Given the description of an element on the screen output the (x, y) to click on. 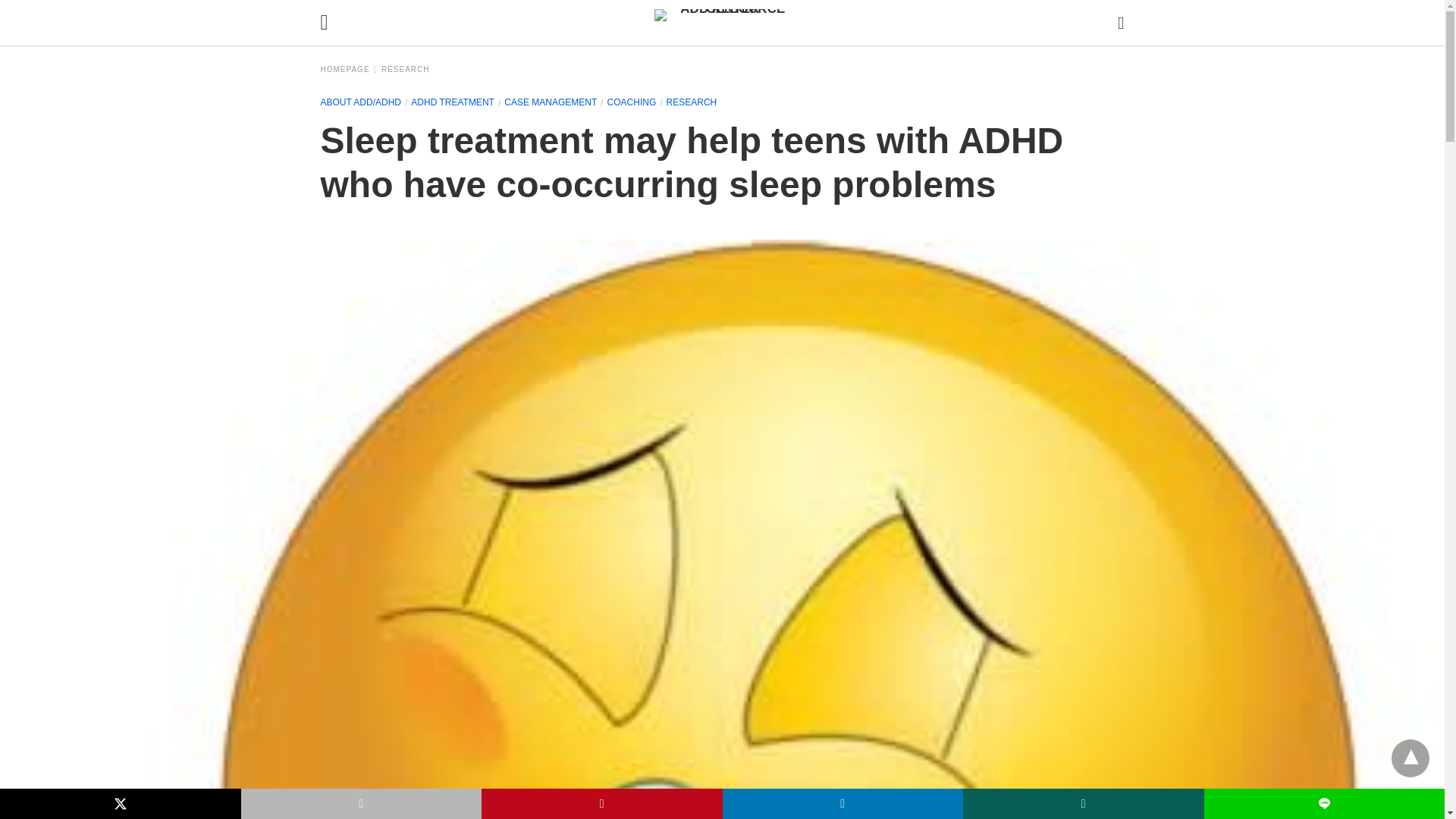
ADHD Treatment (452, 102)
ADHD TREATMENT (452, 102)
RESEARCH (691, 102)
Case Management (549, 102)
RESEARCH (405, 69)
Research (691, 102)
Coaching (631, 102)
COACHING (631, 102)
ADD Resource Center (725, 22)
Homepage (348, 69)
